Given the description of an element on the screen output the (x, y) to click on. 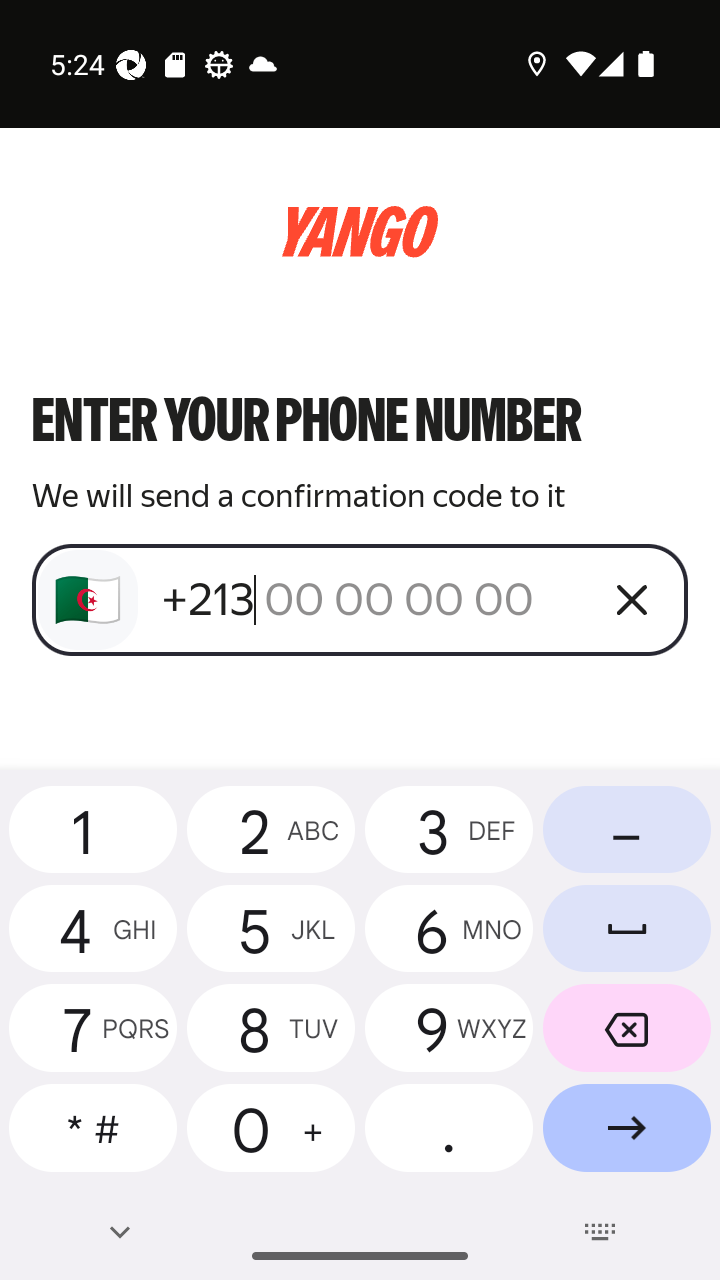
logo (359, 231)
🇩🇿 (88, 600)
+213 (372, 599)
